Given the description of an element on the screen output the (x, y) to click on. 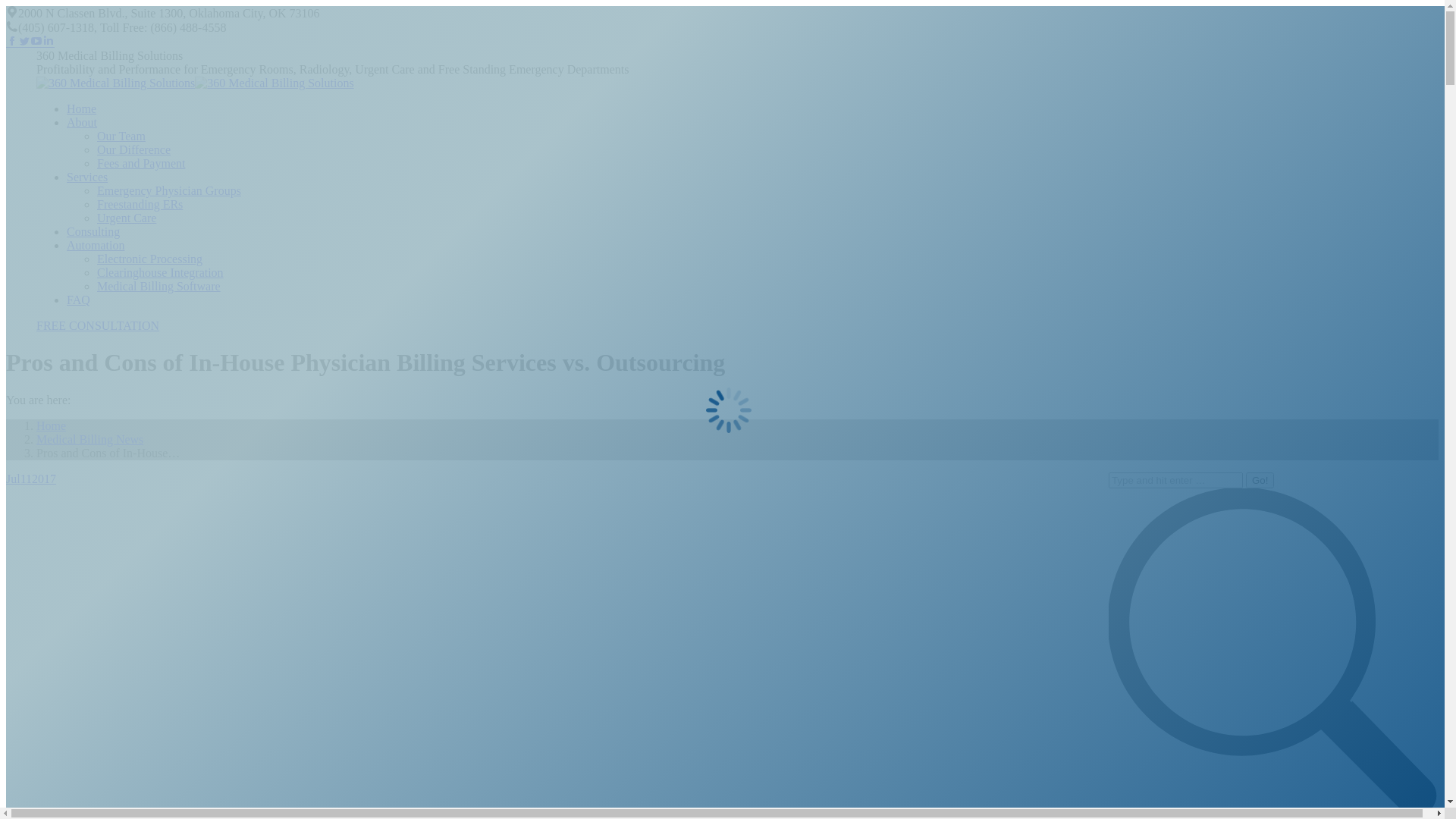
FAQ Element type: text (78, 299)
Home Element type: text (50, 425)
Medical Billing News Element type: text (89, 439)
Consulting Element type: text (92, 231)
Our Difference Element type: text (133, 149)
Fees and Payment Element type: text (141, 162)
Our Team Element type: text (121, 135)
About Element type: text (81, 122)
Medical Billing Software Element type: text (158, 285)
Services Element type: text (86, 176)
Skip to content Element type: text (5, 5)
Home Element type: text (81, 108)
Automation Element type: text (95, 244)
Go! Element type: text (1259, 480)
Freestanding ERs Element type: text (139, 203)
Twitter page opens in new window Element type: text (24, 41)
Linkedin page opens in new window Element type: text (48, 41)
Jul112017 Element type: text (31, 478)
Facebook page opens in new window Element type: text (12, 41)
YouTube page opens in new window Element type: text (36, 41)
Emergency Physician Groups Element type: text (169, 190)
Urgent Care Element type: text (126, 217)
Clearinghouse Integration Element type: text (160, 272)
FREE CONSULTATION Element type: text (97, 325)
Electronic Processing Element type: text (149, 258)
